Given the description of an element on the screen output the (x, y) to click on. 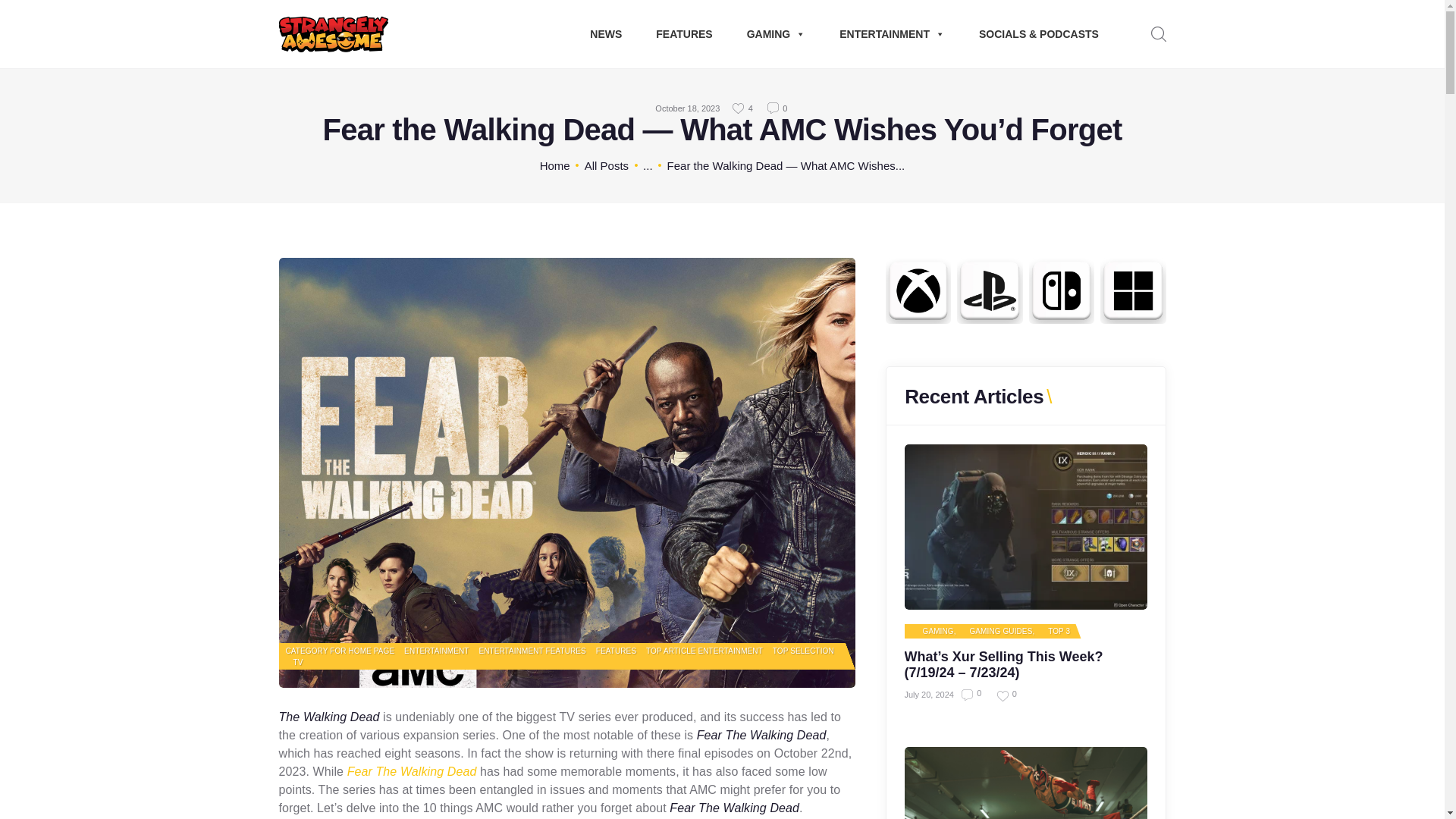
View all posts in Top 3 (1053, 631)
GAMING (776, 34)
NEWS (605, 34)
4 (743, 108)
View all posts in Gaming Guides (995, 631)
View all posts in Entertainment Features (532, 650)
Like (743, 108)
View all posts in Gaming (932, 631)
0 (778, 108)
All Posts (606, 164)
ENTERTAINMENT (891, 34)
View all posts in Features (615, 650)
October 18, 2023 (687, 108)
View all posts in Top Selection (803, 650)
FEATURES (683, 34)
